Given the description of an element on the screen output the (x, y) to click on. 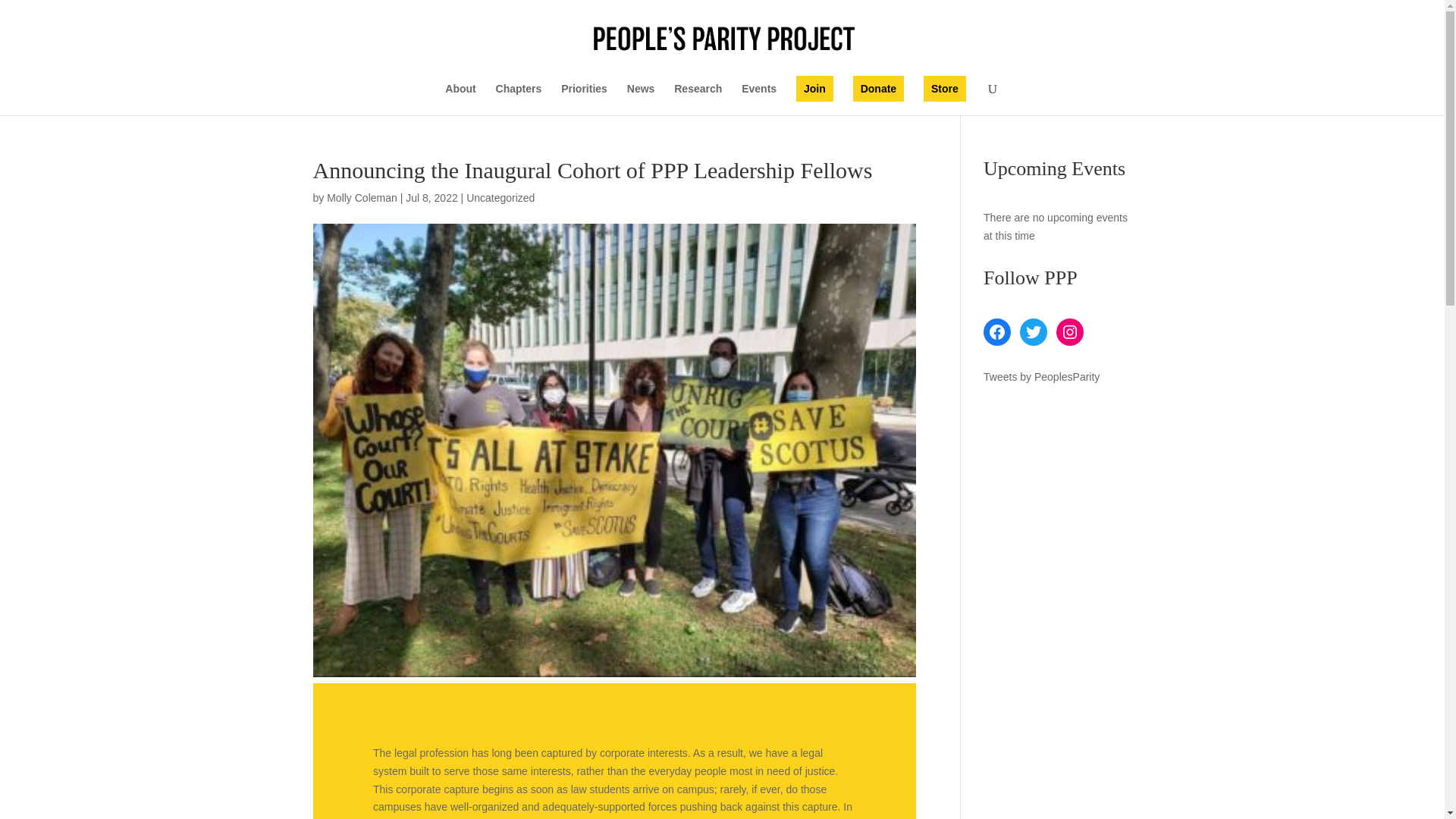
Instagram (1070, 331)
Uncategorized (499, 197)
Posts by Molly Coleman (361, 197)
Store (944, 88)
Events (758, 99)
Twitter (1033, 331)
Molly Coleman (361, 197)
Chapters (518, 99)
Donate (878, 88)
Join (814, 88)
Tweets by PeoplesParity (1041, 377)
About (460, 99)
Facebook (997, 331)
Research (698, 99)
Priorities (583, 99)
